Given the description of an element on the screen output the (x, y) to click on. 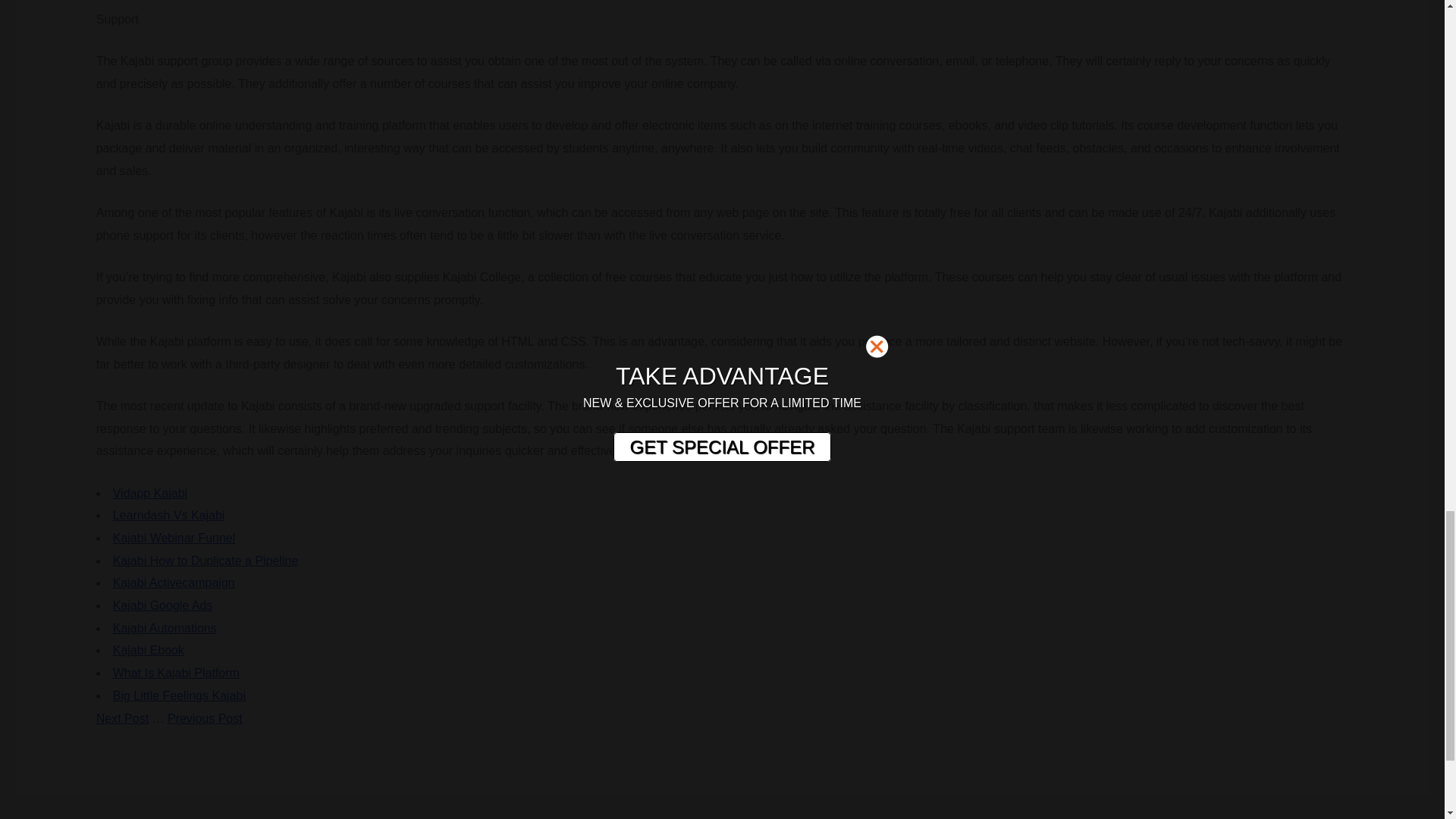
Big Little Feelings Kajabi (179, 695)
Vidapp Kajabi (150, 492)
Kajabi Google Ads (162, 604)
Learndash Vs Kajabi (169, 514)
Next Post (122, 717)
Previous Post (205, 717)
Learndash Vs Kajabi (169, 514)
Kajabi Automations (164, 627)
Kajabi Activecampaign (173, 582)
Kajabi Automations (164, 627)
Kajabi Webinar Funnel (174, 537)
Kajabi Ebook (148, 649)
What Is Kajabi Platform (176, 672)
What Is Kajabi Platform (176, 672)
Vidapp Kajabi (150, 492)
